Given the description of an element on the screen output the (x, y) to click on. 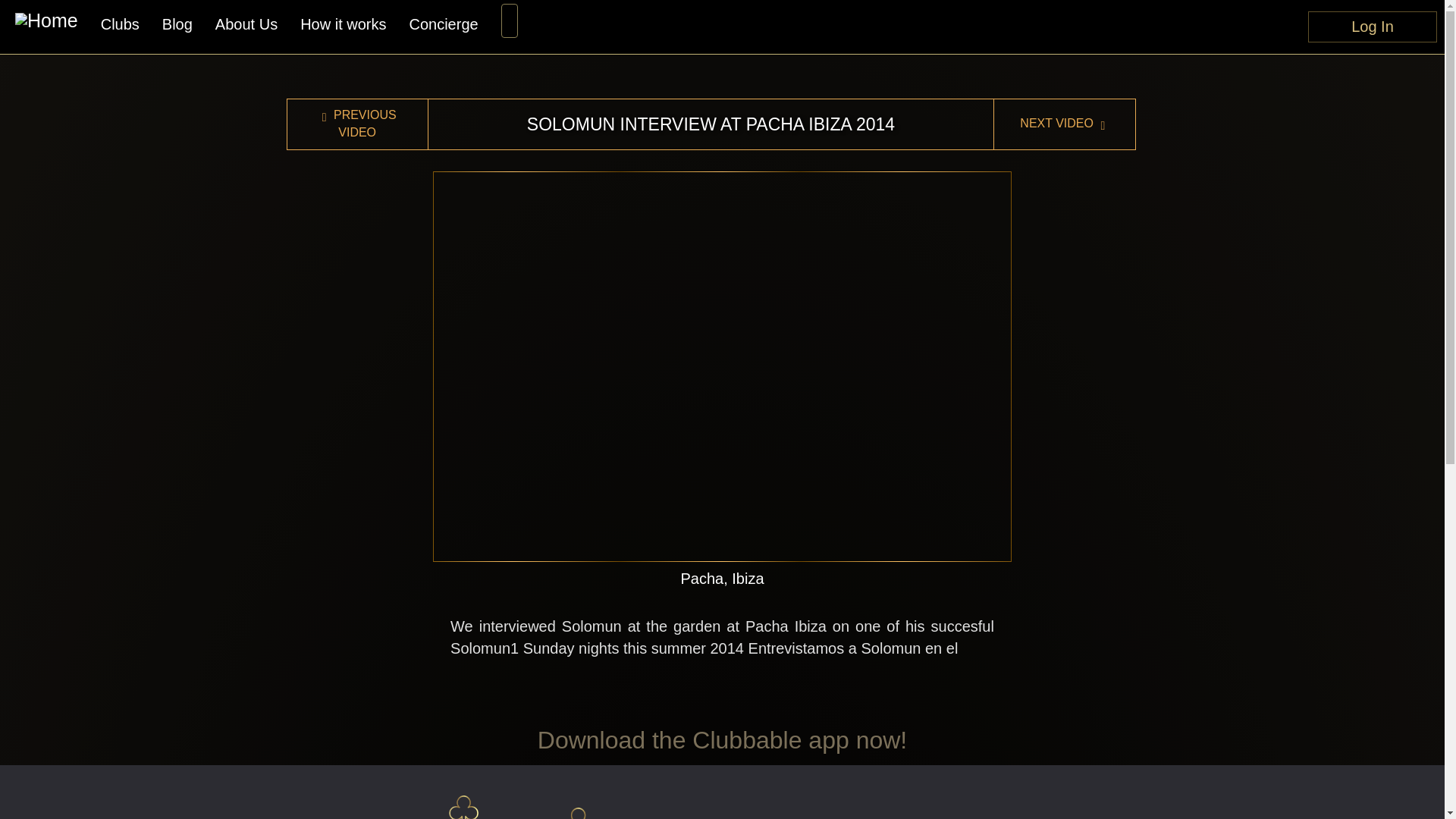
Home (46, 22)
Previous Blog (357, 124)
Login (1372, 22)
 PREVIOUS VIDEO (357, 124)
About Us (245, 23)
Download the Clubbable app now! (722, 739)
Concierge (443, 23)
How it works (342, 23)
Clubs (119, 23)
Log In (1372, 22)
